Given the description of an element on the screen output the (x, y) to click on. 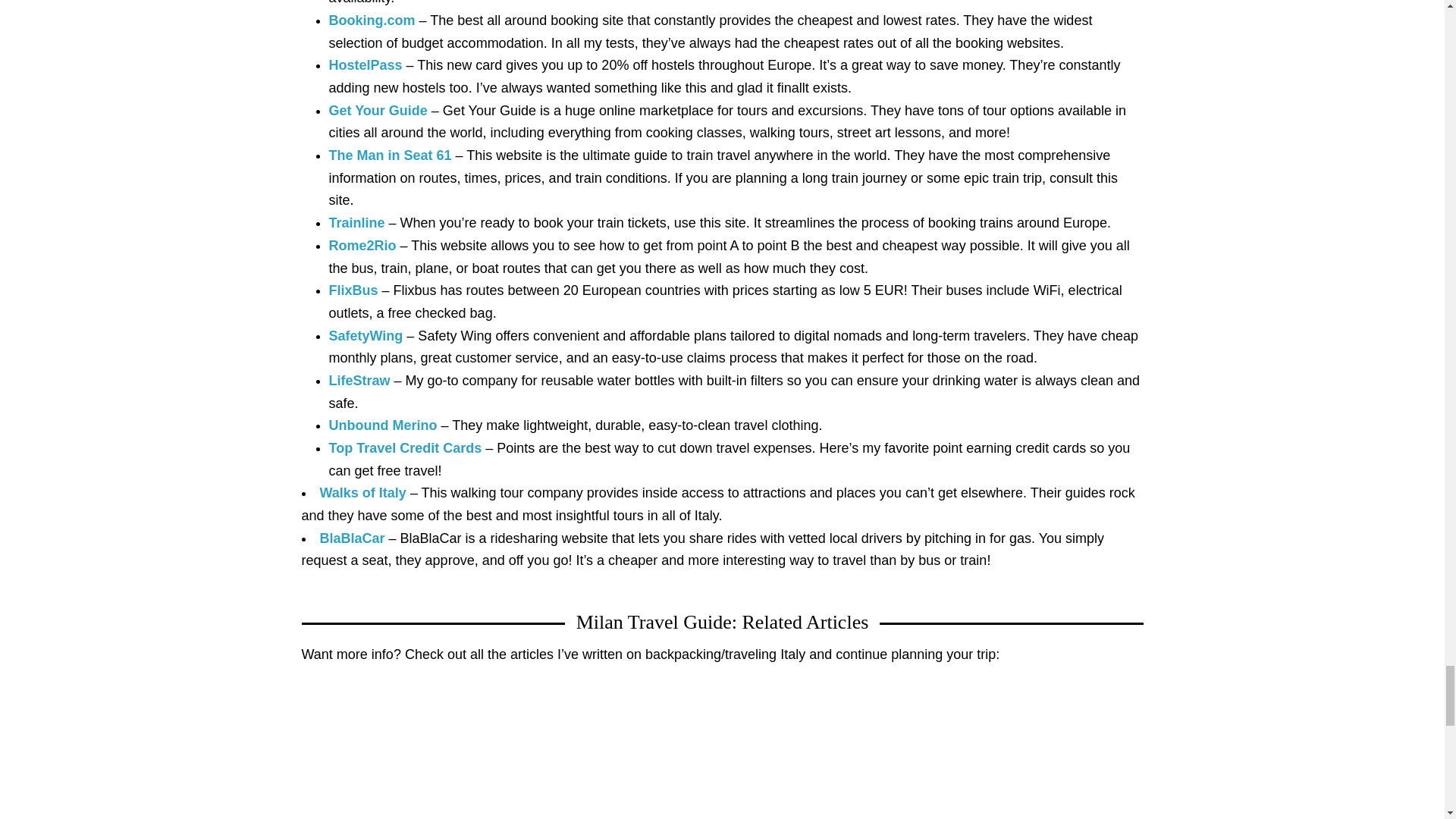
The 6 Best Hotels in Florence (721, 755)
The Best Walking Tours in Bologna (435, 755)
